Given the description of an element on the screen output the (x, y) to click on. 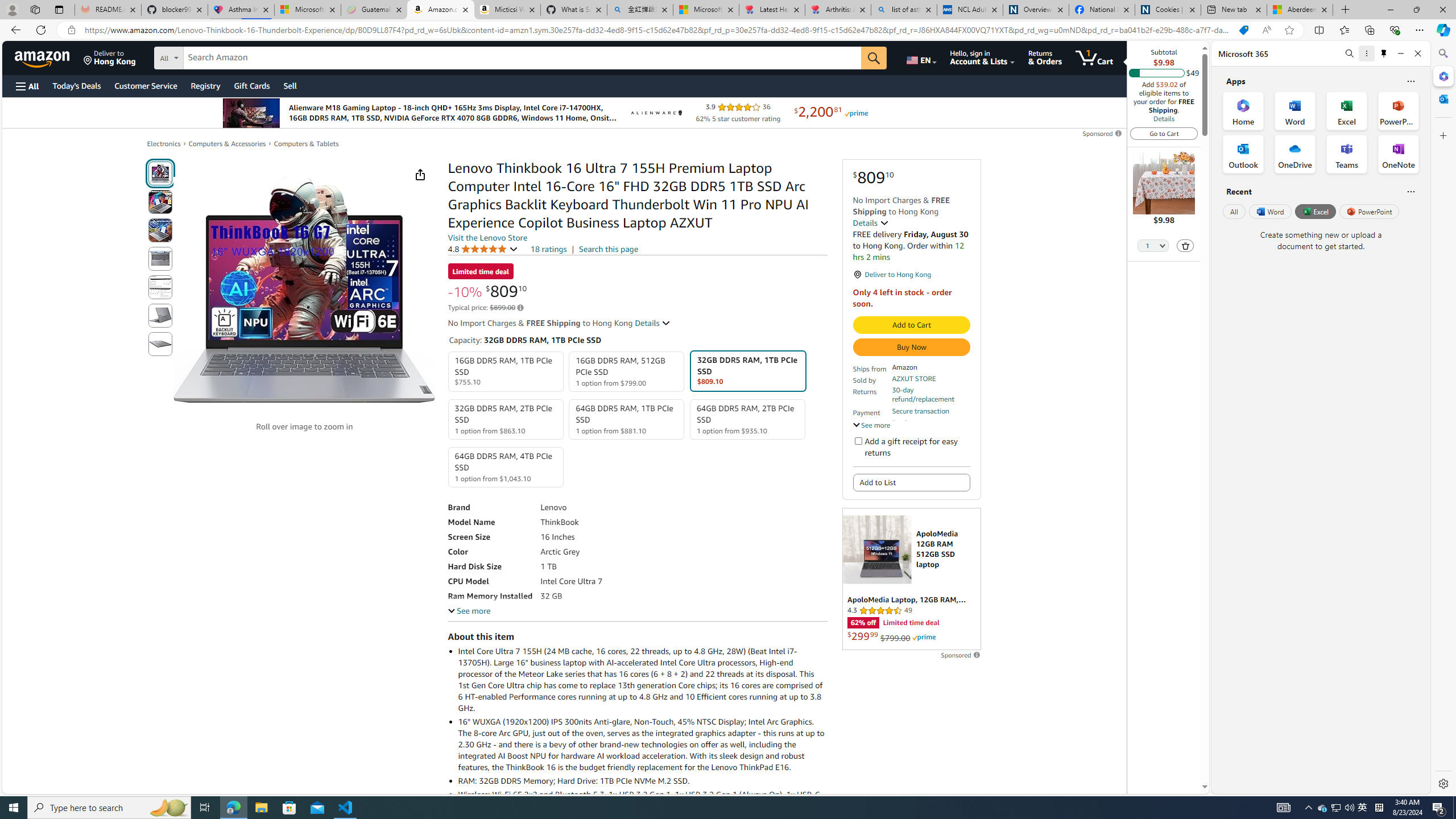
4.8 4.8 out of 5 stars (482, 248)
32GB DDR5 RAM, 2TB PCIe SSD 1 option from $863.10 (505, 418)
All (1233, 210)
Is this helpful? (1410, 191)
Outlook Office App (1243, 154)
Delete (1185, 245)
Electronics (163, 143)
Add to Cart (911, 324)
Add to List (911, 482)
Details  (652, 322)
